Given the description of an element on the screen output the (x, y) to click on. 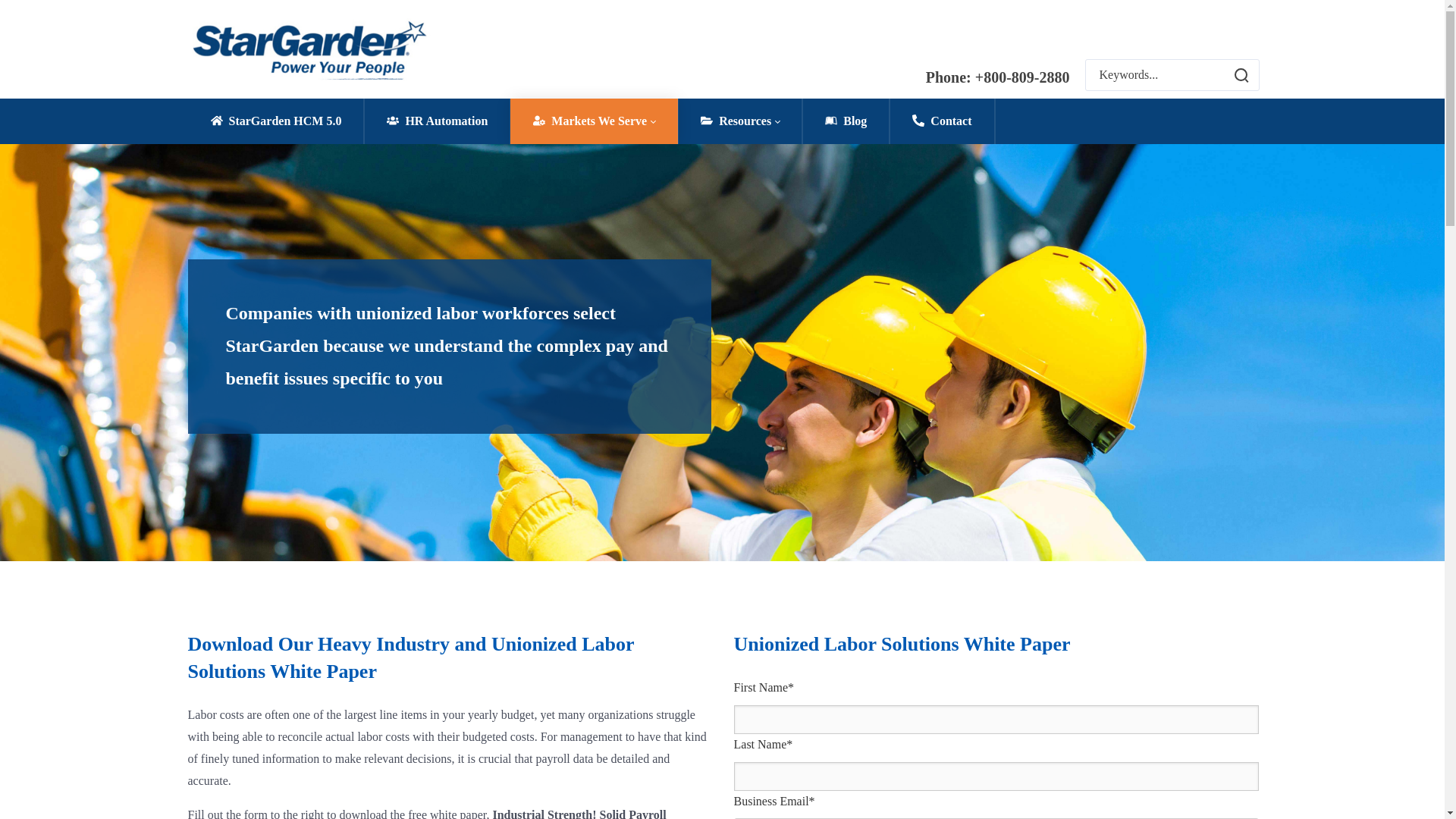
Resources (740, 121)
StarGarden HCM 5.0 (276, 121)
Contact (941, 121)
HR Automation (437, 121)
Blog (845, 121)
Markets We Serve (594, 121)
